Given the description of an element on the screen output the (x, y) to click on. 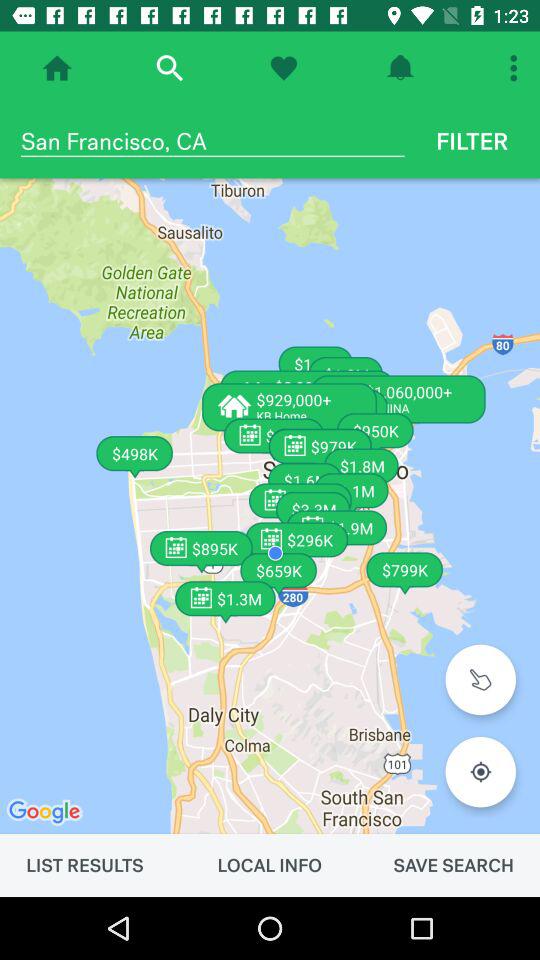
tap item next to the filter icon (212, 141)
